Given the description of an element on the screen output the (x, y) to click on. 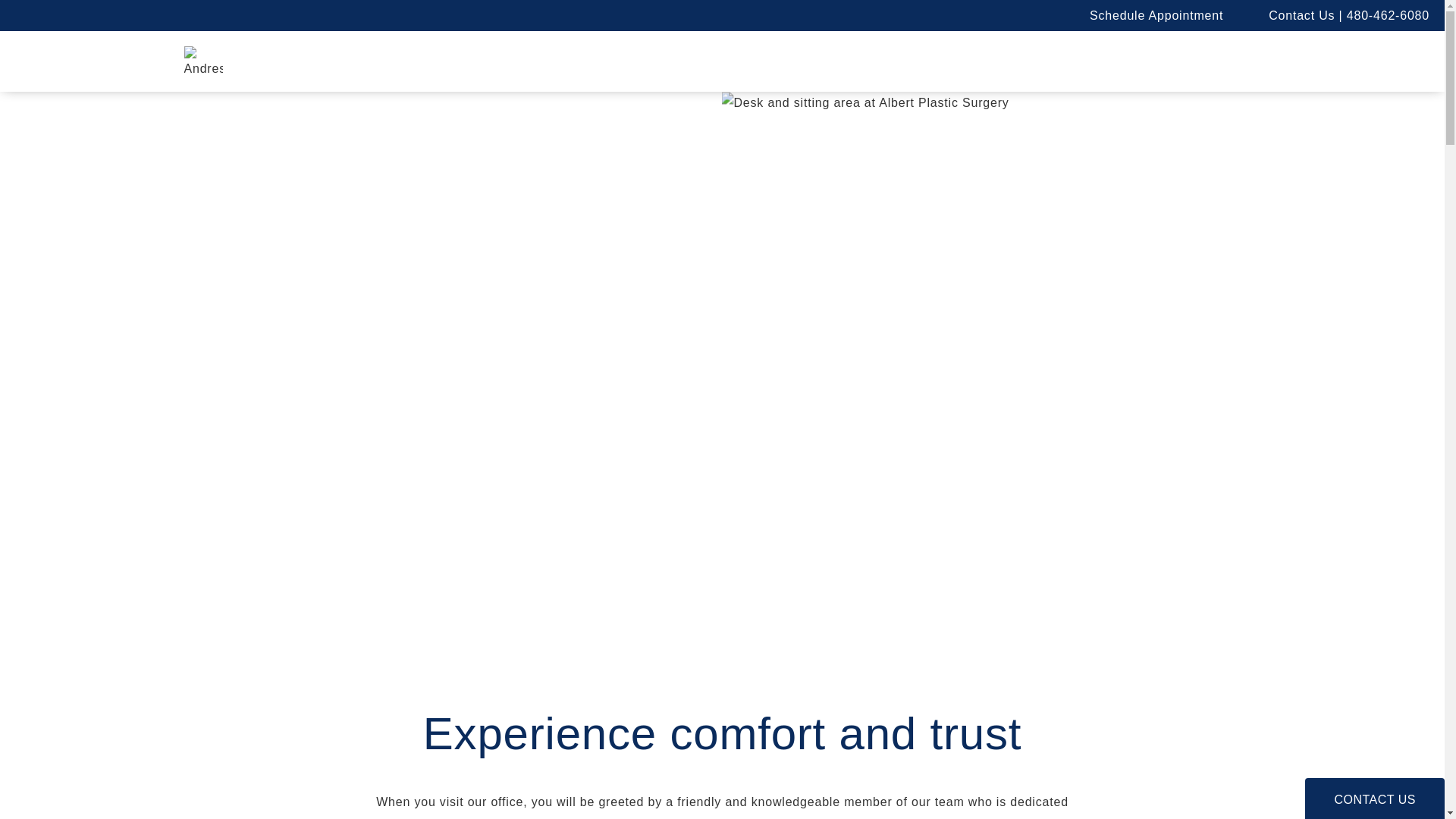
Albert Andres Plastic Surgery on Facebook (979, 13)
Albert Andres Plastic Surgery on Instagram (944, 13)
Albert Andres Plastic Surgery on Twitter (1012, 13)
Schedule Appointment (1152, 15)
